Given the description of an element on the screen output the (x, y) to click on. 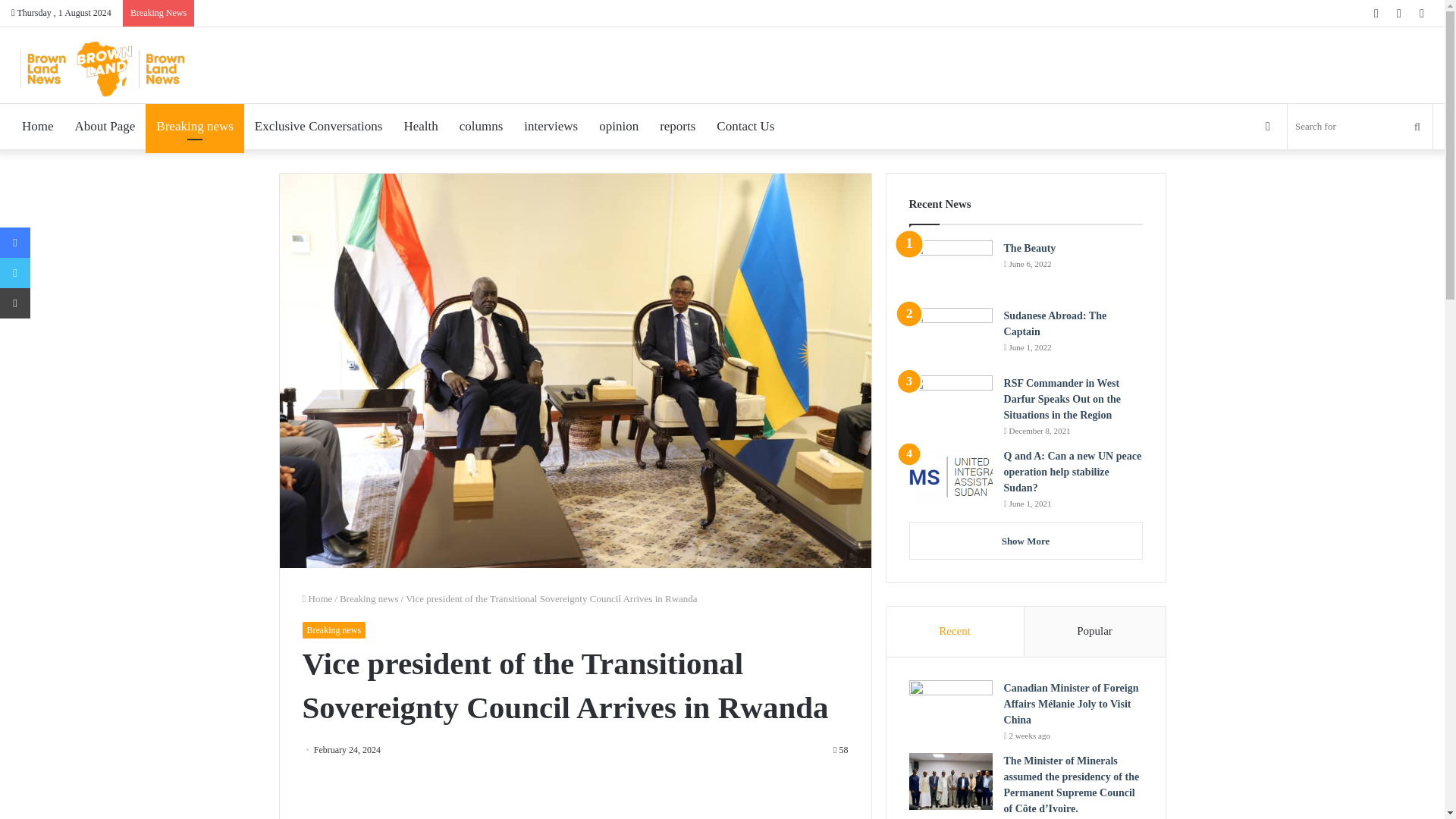
Facebook (15, 242)
Exclusive Conversations (318, 126)
About Page (105, 126)
columns (480, 126)
Contact Us (745, 126)
Health (420, 126)
Print (15, 303)
interviews (550, 126)
Breaking news (368, 598)
blnews (102, 69)
opinion (618, 126)
Breaking news (194, 126)
Home (37, 126)
Home (316, 598)
reports (677, 126)
